Given the description of an element on the screen output the (x, y) to click on. 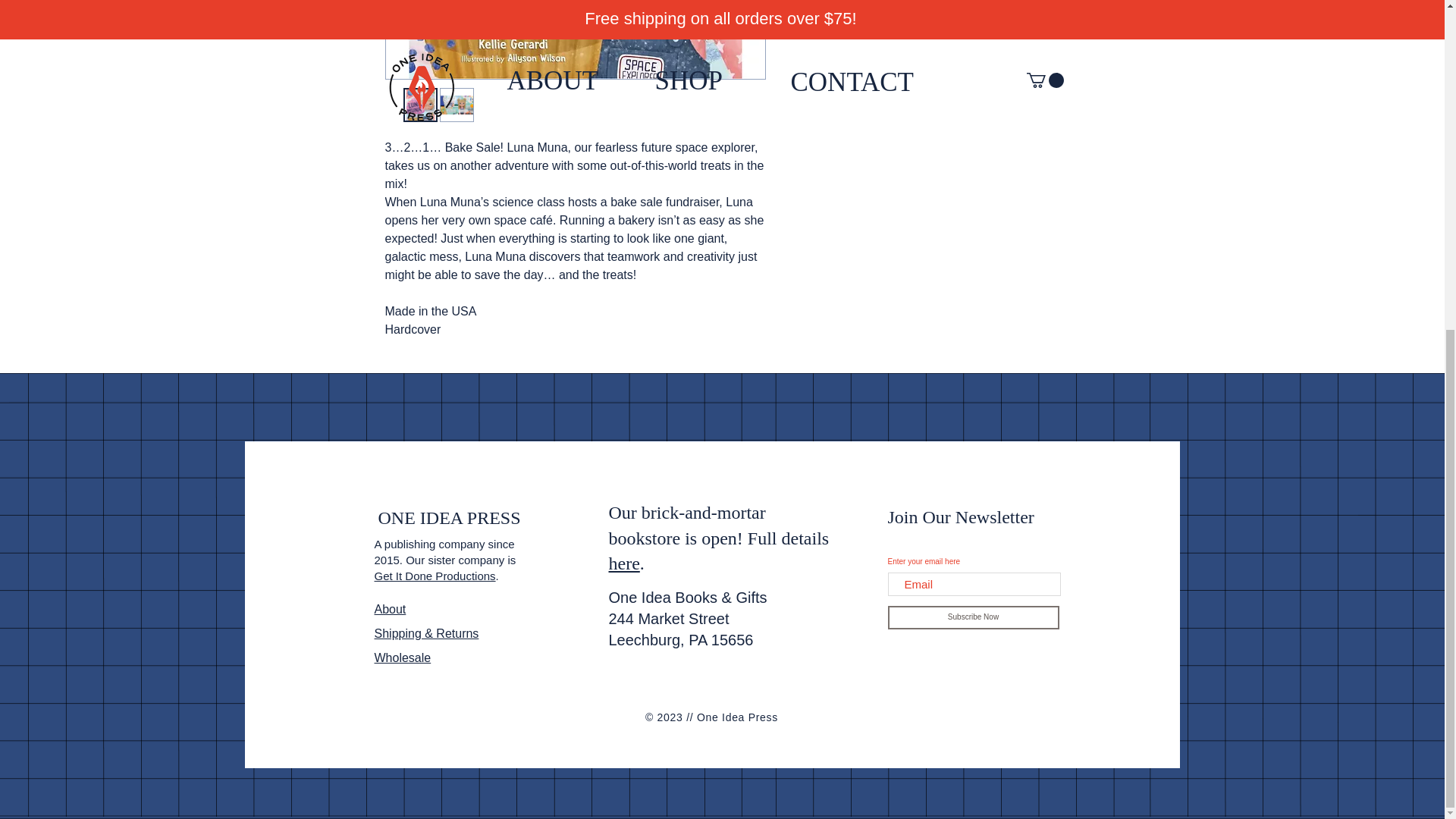
Subscribe Now (972, 617)
Wholesale (402, 657)
Get It Done Productions (435, 575)
here (623, 563)
About (390, 608)
